Given the description of an element on the screen output the (x, y) to click on. 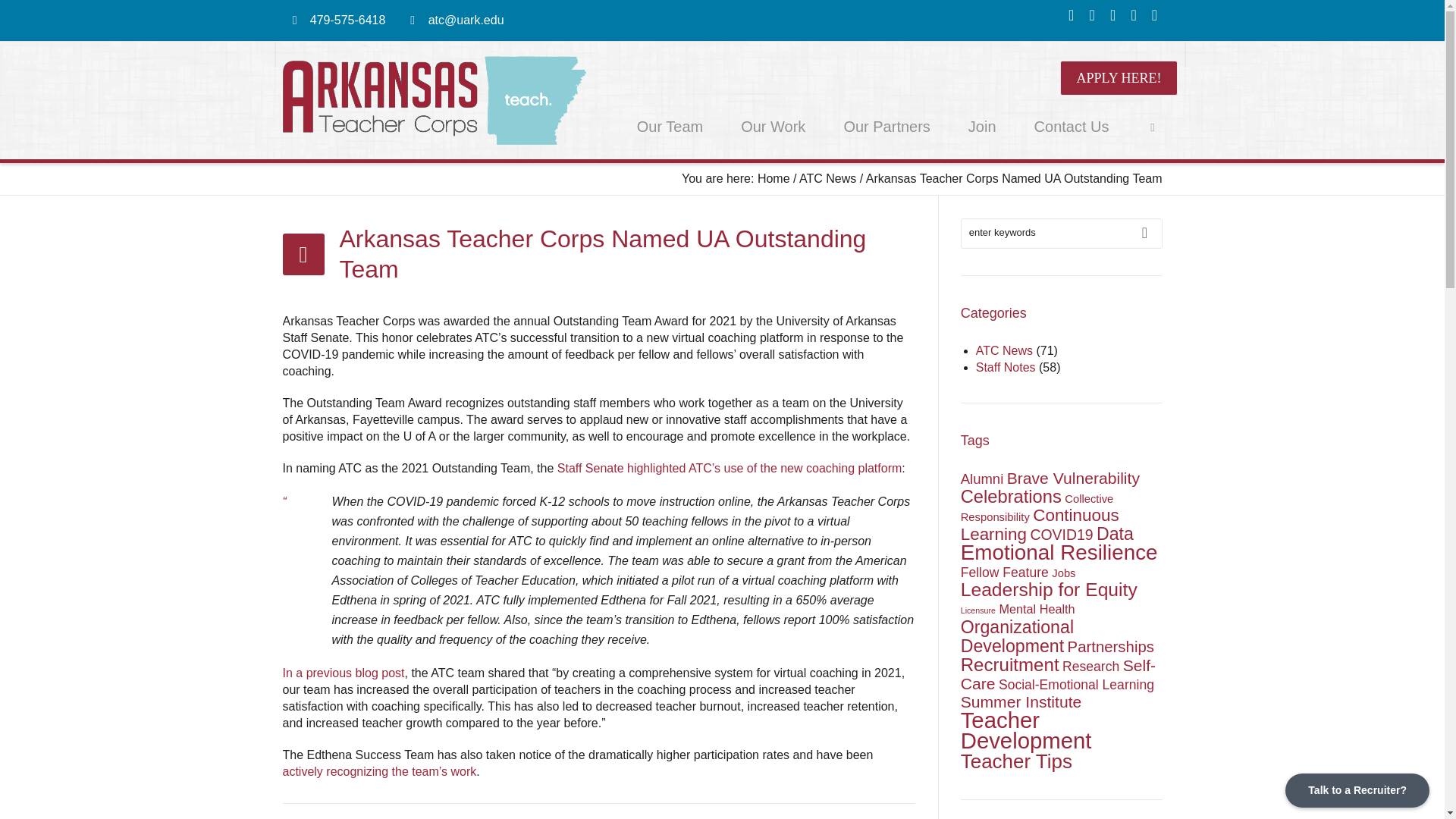
Facebook (1071, 14)
479-575-6418 (347, 19)
June 24, 2022 (820, 818)
TikTok (1133, 14)
Our Team (669, 125)
APPLY HERE! (1117, 77)
Our Partners (886, 125)
LinkedIn (1113, 14)
Instagram (1091, 14)
Our Work (773, 125)
Twitter (1154, 14)
